Given the description of an element on the screen output the (x, y) to click on. 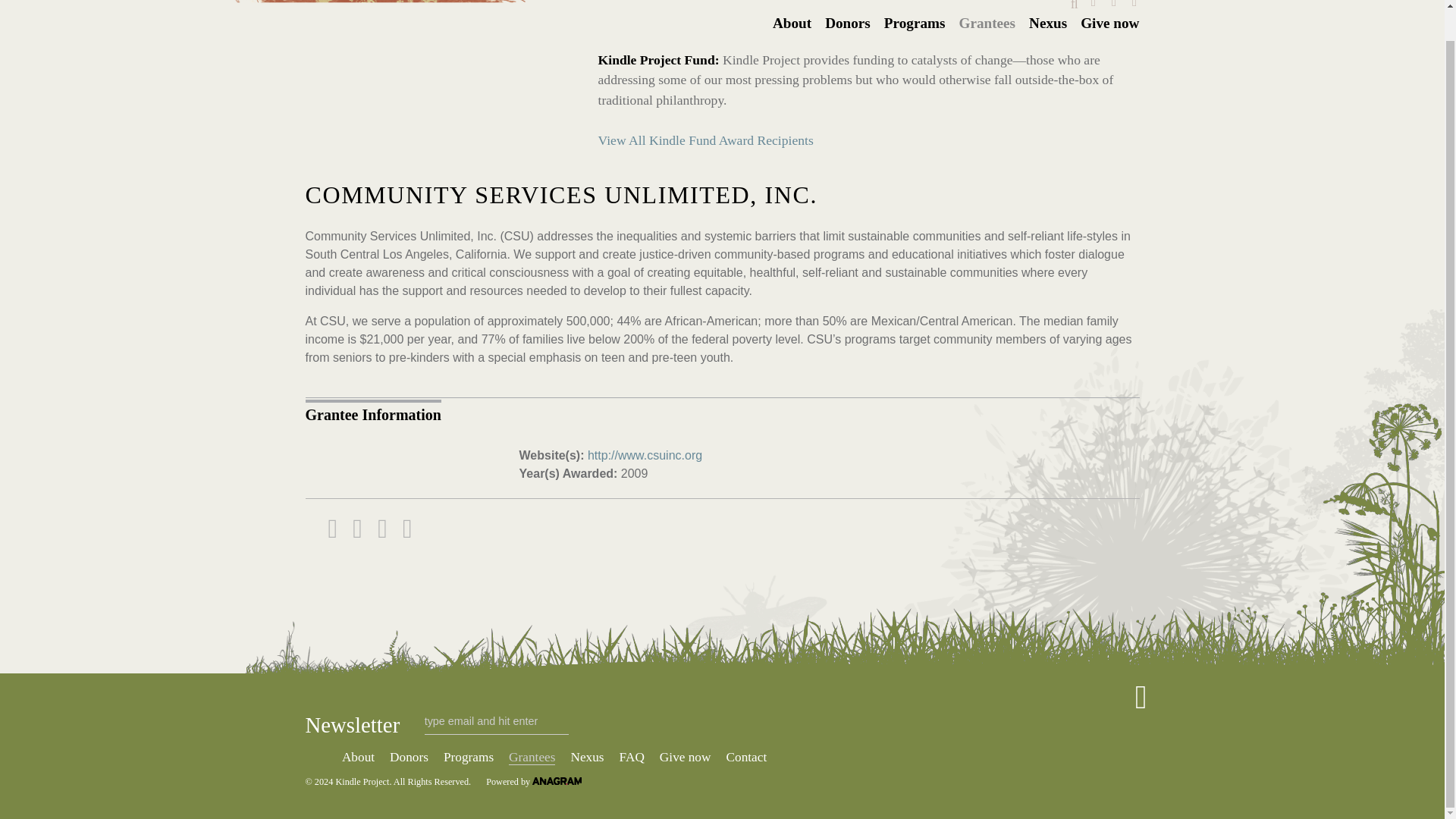
Programs (913, 24)
Nexus (587, 757)
Grantees (531, 757)
Nexus (1048, 24)
Contact (746, 757)
Brave Ideas for Systems in Crisis (361, 781)
join (322, 756)
Kindle Project (436, 71)
About (791, 24)
FAQ (632, 757)
